Given the description of an element on the screen output the (x, y) to click on. 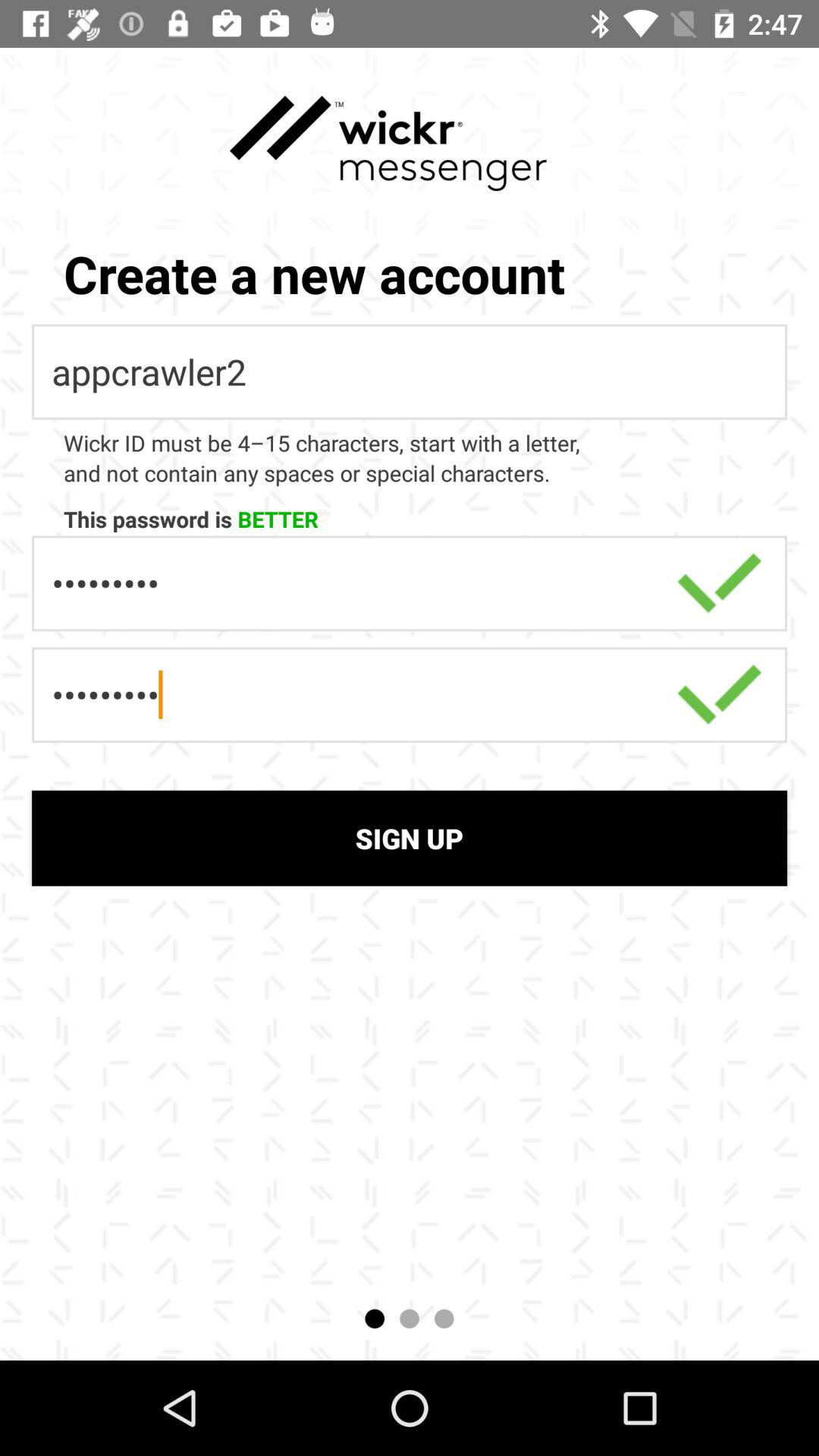
tap item above wickr id must (409, 371)
